Given the description of an element on the screen output the (x, y) to click on. 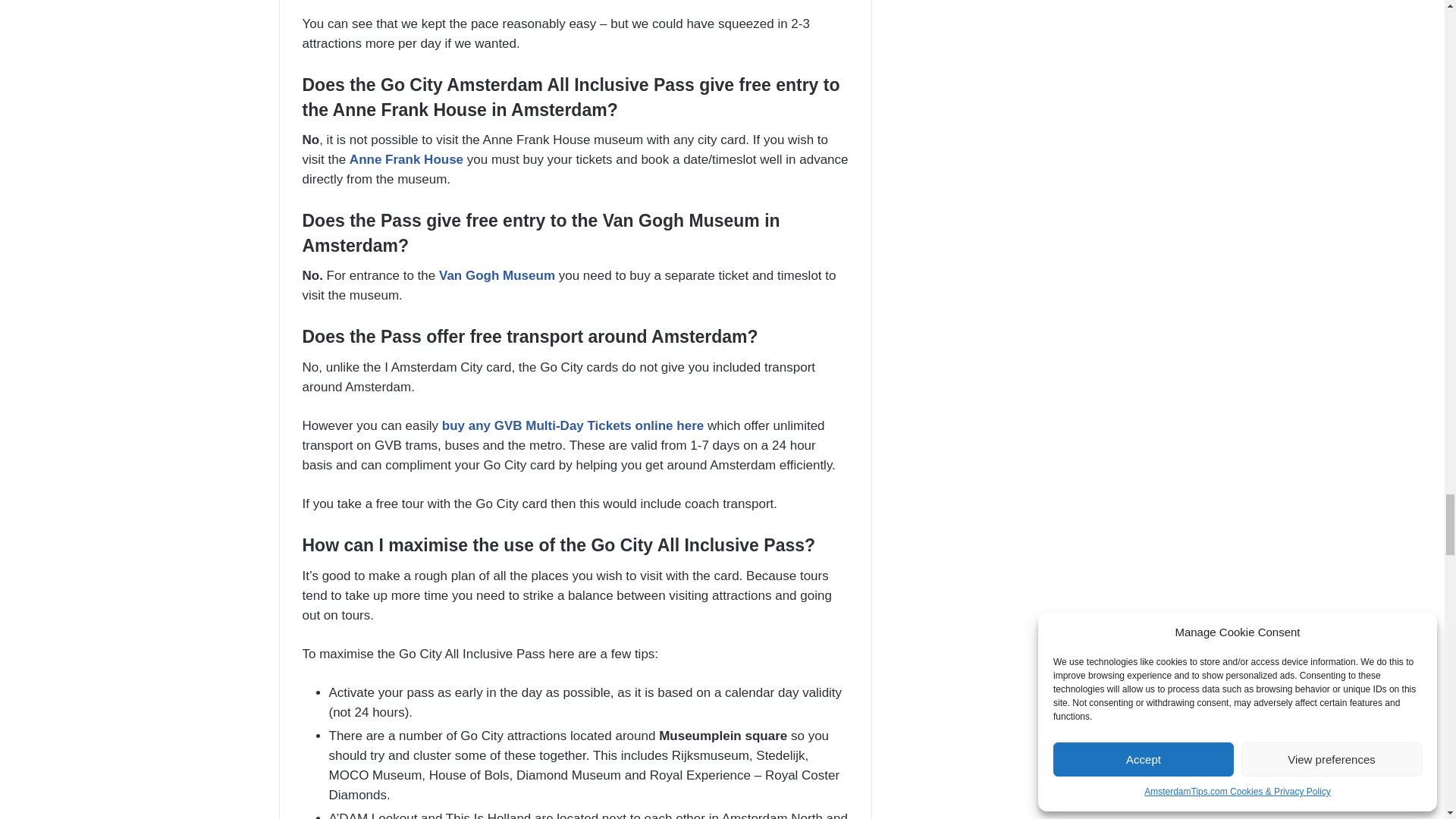
Van Gogh Museum (496, 275)
Anne Frank House (406, 159)
